Given the description of an element on the screen output the (x, y) to click on. 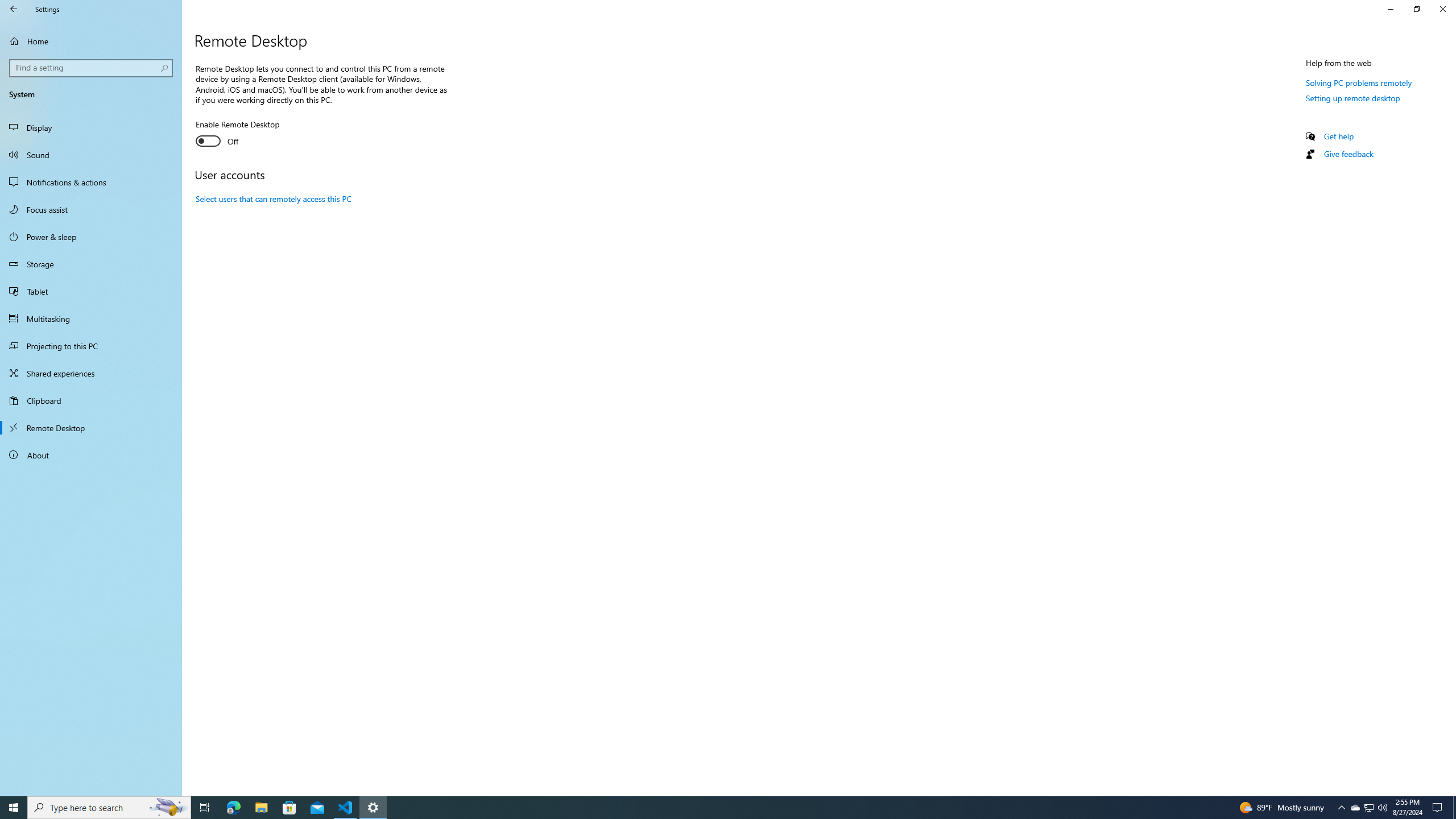
Clipboard (91, 400)
Close Settings (1442, 9)
Remote Desktop (91, 427)
Display (91, 126)
Enable Remote Desktop (237, 133)
Back (13, 9)
Select users that can remotely access this PC (273, 198)
Give feedback (1348, 153)
